Given the description of an element on the screen output the (x, y) to click on. 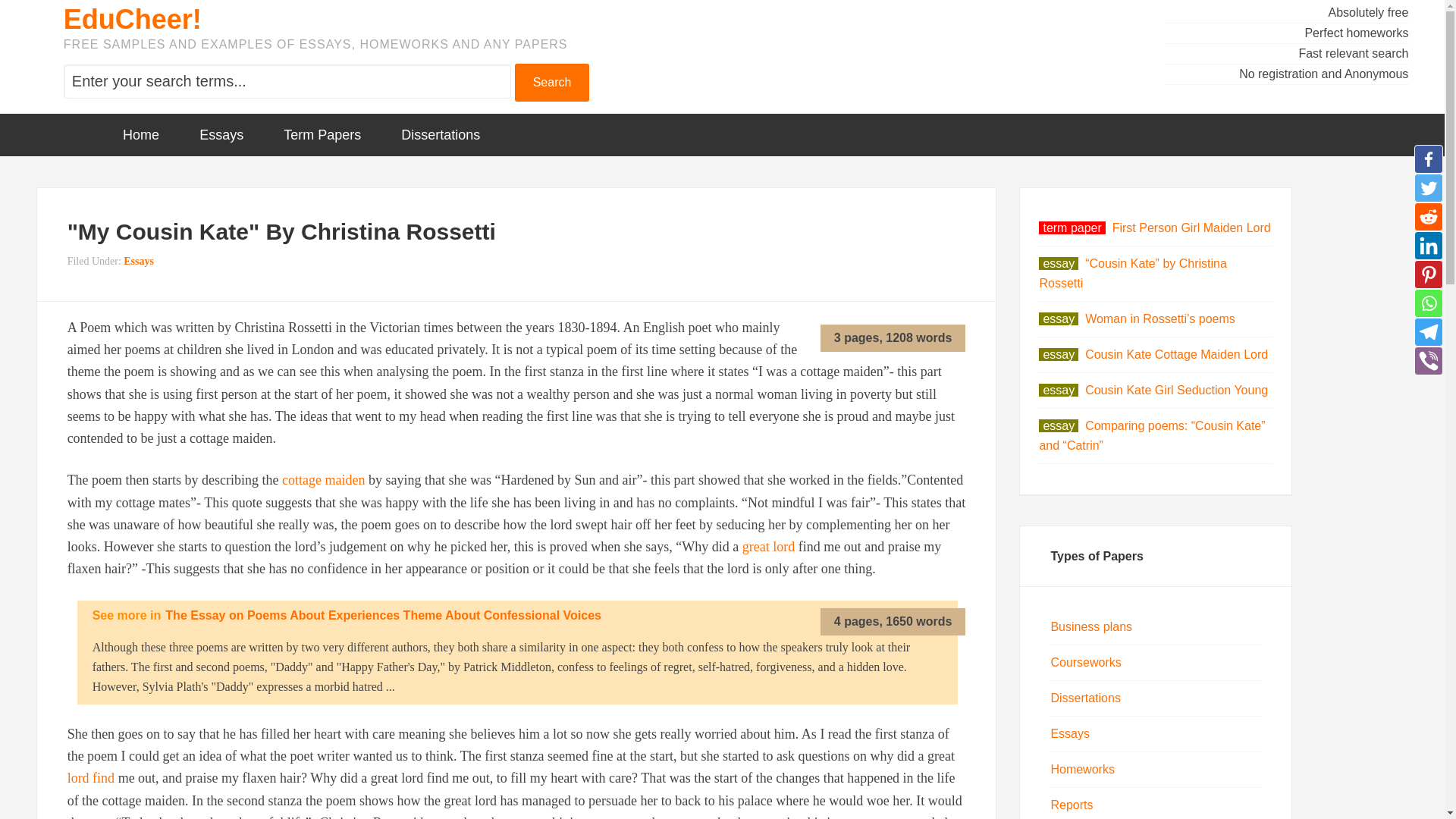
The Essay on Cousin Kate Cottage Maiden Lord (323, 479)
cottage maiden (323, 479)
Reddit (1427, 216)
Twitter (1427, 187)
term paper  First Person Girl Maiden Lord (1154, 227)
Reports (1071, 804)
great lord (768, 546)
Facebook (1427, 158)
Business plans (1090, 626)
Dissertations (1084, 697)
Search (552, 82)
Whatsapp (1427, 303)
Enter your search terms... (287, 81)
essay  Cousin Kate Cottage Maiden Lord (1153, 354)
